Given the description of an element on the screen output the (x, y) to click on. 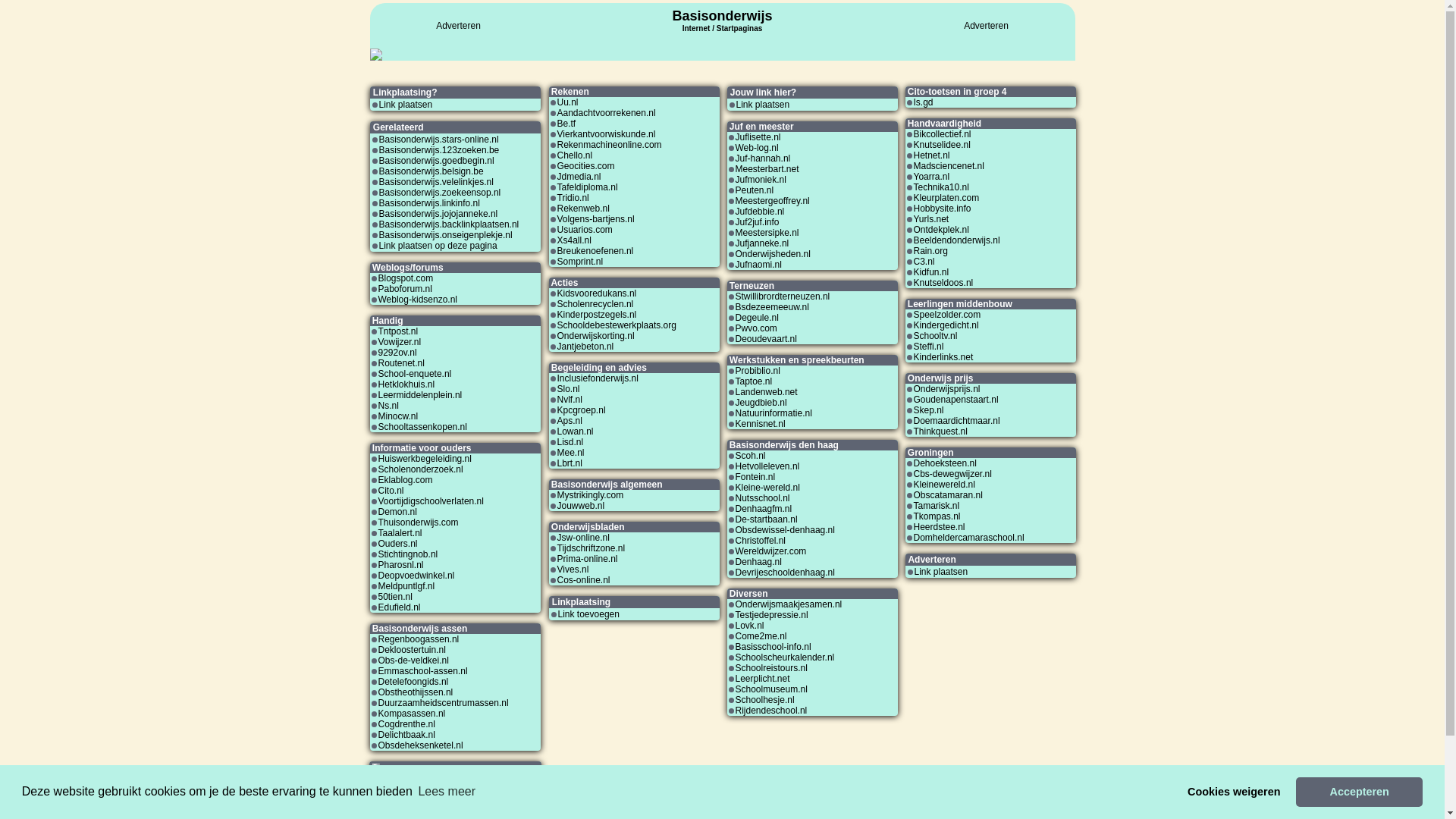
Basisonderwijs.belsign.be Element type: text (431, 171)
Pwvo.com Element type: text (756, 328)
Jufmoniek.nl Element type: text (760, 179)
Speelzolder.com Element type: text (946, 314)
Cos-online.nl Element type: text (582, 579)
Knutseldoos.nl Element type: text (942, 282)
Onderwijsprijs.nl Element type: text (946, 388)
Lowan.nl Element type: text (574, 431)
Hetvolleleven.nl Element type: text (767, 466)
Jouwweb.nl Element type: text (580, 505)
Rain.org Element type: text (930, 250)
Paboforum.nl Element type: text (404, 288)
Landenweb.net Element type: text (766, 391)
Juf2juf.info Element type: text (757, 221)
Kpcgroep.nl Element type: text (580, 409)
Minocw.nl Element type: text (397, 416)
Link plaatsen Element type: text (406, 104)
Jufjanneke.nl Element type: text (762, 243)
Yurls.net Element type: text (930, 218)
Stichtingnob.nl Element type: text (407, 554)
Basisonderwijs.backlinkplaatsen.nl Element type: text (449, 224)
Jeugdbieb.nl Element type: text (761, 402)
Kidsvooredukans.nl Element type: text (596, 293)
Hobbysite.info Element type: text (941, 208)
Basisonderwijs.goedbegin.nl Element type: text (436, 160)
Onderwijsmaakjesamen.nl Element type: text (788, 604)
Aandachtvoorrekenen.nl Element type: text (605, 112)
C3.nl Element type: text (923, 261)
Onderwijsheden.nl Element type: text (772, 253)
Technika10.nl Element type: text (940, 187)
Jsw-online.nl Element type: text (582, 537)
Tijdschriftzone.nl Element type: text (590, 547)
Rekenweb.nl Element type: text (582, 208)
Emmaschool-assen.nl Element type: text (422, 670)
Kleinewereld.nl Element type: text (943, 484)
De-startbaan.nl Element type: text (766, 519)
Adverteren Element type: text (458, 25)
Basisonderwijs.velelinkjes.nl Element type: text (436, 181)
Lovk.nl Element type: text (749, 625)
Probiblio.nl Element type: text (757, 370)
Internet Element type: text (696, 26)
Schoolmuseum.nl Element type: text (771, 689)
Obs-de-veldkei.nl Element type: text (412, 660)
Ontdekplek.nl Element type: text (940, 229)
Deoudevaart.nl Element type: text (766, 338)
Basisonderwijs.linkinfo.nl Element type: text (429, 202)
50tien.nl Element type: text (394, 596)
Scholenonderzoek.nl Element type: text (419, 469)
Madsciencenet.nl Element type: text (948, 165)
Kennisnet.nl Element type: text (760, 423)
Nutsschool.nl Element type: text (762, 497)
Rijdendeschool.nl Element type: text (771, 710)
Geocities.com Element type: text (585, 165)
Voortijdigschoolverlaten.nl Element type: text (430, 500)
Regenboogassen.nl Element type: text (417, 638)
Juf-hannah.nl Element type: text (762, 158)
Aps.nl Element type: text (568, 420)
Basisonderwijs Element type: text (721, 15)
Knutselidee.nl Element type: text (941, 144)
Tkompas.nl Element type: text (936, 516)
Jdmedia.nl Element type: text (578, 176)
Ouders.nl Element type: text (397, 543)
Somprint.nl Element type: text (579, 261)
Cogdrenthe.nl Element type: text (405, 723)
Deopvoedwinkel.nl Element type: text (415, 575)
Basisonderwijs.jojojanneke.nl Element type: text (438, 213)
Doemaardichtmaar.nl Element type: text (956, 420)
Chello.nl Element type: text (574, 155)
Detelefoongids.nl Element type: text (412, 681)
Onderwijskorting.nl Element type: text (594, 335)
Delichtbaak.nl Element type: text (405, 734)
Thuisonderwijs.com Element type: text (417, 522)
Degeule.nl Element type: text (756, 317)
Scholenrecyclen.nl Element type: text (594, 303)
Kindergedicht.nl Element type: text (945, 325)
Leermiddelenplein.nl Element type: text (419, 394)
Pharosnl.nl Element type: text (400, 564)
Ns.nl Element type: text (387, 405)
Breukenoefenen.nl Element type: text (594, 250)
Schoolreistours.nl Element type: text (771, 667)
Goudenapenstaart.nl Element type: text (955, 399)
Accepteren Element type: text (1358, 791)
Jouw link hier? Element type: text (407, 779)
Fontein.nl Element type: text (755, 476)
Basisonderwijs.123zoeken.be Element type: text (439, 149)
Tamarisk.nl Element type: text (936, 505)
Rekenmachineonline.com Element type: text (608, 144)
Wereldwijzer.com Element type: text (770, 551)
Routenet.nl Element type: text (400, 362)
Meesterbart.net Element type: text (767, 168)
Uu.nl Element type: text (566, 102)
Blogspot.com Element type: text (405, 278)
Schooltv.nl Element type: text (935, 335)
Denhaag.nl Element type: text (758, 561)
Link plaatsen op deze pagina Element type: text (438, 245)
Juflisette.nl Element type: text (758, 136)
Basisonderwijs.stars-online.nl Element type: text (438, 139)
Stwillibrordterneuzen.nl Element type: text (782, 296)
Link plaatsen Element type: text (941, 571)
Web-log.nl Element type: text (756, 147)
Christoffel.nl Element type: text (760, 540)
Natuurinformatie.nl Element type: text (773, 412)
Schooltassenkopen.nl Element type: text (421, 426)
Vierkantvoorwiskunde.nl Element type: text (605, 133)
Eklablog.com Element type: text (404, 479)
Tntpost.nl Element type: text (397, 331)
Obstheothijssen.nl Element type: text (414, 692)
Skep.nl Element type: text (928, 409)
Thinkquest.nl Element type: text (939, 431)
Schoolhesje.nl Element type: text (764, 699)
Link toevoegen Element type: text (588, 613)
Meestersipke.nl Element type: text (767, 232)
Be.tf Element type: text (565, 123)
Basisonderwijs.onseigenplekje.nl Element type: text (445, 234)
Taptoe.nl Element type: text (753, 381)
Volgens-bartjens.nl Element type: text (594, 218)
Inclusiefonderwijs.nl Element type: text (596, 378)
Bsdezeemeeuw.nl Element type: text (772, 306)
Huiswerkbegeleiding.nl Element type: text (423, 458)
Is.gd Element type: text (922, 102)
Prima-online.nl Element type: text (586, 558)
Mee.nl Element type: text (569, 452)
Taalalert.nl Element type: text (399, 532)
Kompasassen.nl Element type: text (411, 713)
Usuarios.com Element type: text (583, 229)
Edufield.nl Element type: text (398, 607)
Adverteren Element type: text (985, 25)
Kidfun.nl Element type: text (930, 271)
Mystrikingly.com Element type: text (589, 494)
Come2me.nl Element type: text (761, 635)
Startpaginas Element type: text (739, 28)
Meldpuntlgf.nl Element type: text (405, 585)
Jufdebbie.nl Element type: text (759, 211)
Basisschool-info.nl Element type: text (773, 646)
Lees meer Element type: text (446, 791)
Cbs-dewegwijzer.nl Element type: text (952, 473)
Domheldercamaraschool.nl Element type: text (968, 537)
Kleurplaten.com Element type: text (946, 197)
Duurzaamheidscentrumassen.nl Element type: text (442, 702)
Heerdstee.nl Element type: text (938, 526)
Peuten.nl Element type: text (754, 190)
Cookies weigeren Element type: text (1233, 791)
Tridio.nl Element type: text (572, 197)
Slo.nl Element type: text (567, 388)
Schoolscheurkalender.nl Element type: text (784, 657)
Obsdewissel-denhaag.nl Element type: text (784, 529)
Bikcollectief.nl Element type: text (941, 133)
Obscatamaran.nl Element type: text (947, 494)
Vives.nl Element type: text (572, 569)
Hetnet.nl Element type: text (931, 155)
Cito.nl Element type: text (390, 490)
Hetklokhuis.nl Element type: text (405, 384)
Nvlf.nl Element type: text (568, 399)
Demon.nl Element type: text (396, 511)
Weblog-kidsenzo.nl Element type: text (417, 299)
Basisonderwijs.zoekeensop.nl Element type: text (440, 192)
Scoh.nl Element type: text (750, 455)
Denhaagfm.nl Element type: text (763, 508)
Jantjebeton.nl Element type: text (584, 346)
Devrijeschooldenhaag.nl Element type: text (784, 572)
Dehoeksteen.nl Element type: text (944, 463)
Testjedepressie.nl Element type: text (771, 614)
Meestergeoffrey.nl Element type: text (772, 200)
Steffi.nl Element type: text (928, 346)
Dekloostertuin.nl Element type: text (411, 649)
Obsdeheksenketel.nl Element type: text (419, 745)
Vowijzer.nl Element type: text (398, 341)
Beeldendonderwijs.nl Element type: text (956, 240)
Yoarra.nl Element type: text (931, 176)
Xs4all.nl Element type: text (573, 240)
School-enquete.nl Element type: text (414, 373)
Leerplicht.net Element type: text (762, 678)
Kinderlinks.net Element type: text (942, 356)
Kinderpostzegels.nl Element type: text (596, 314)
Kleine-wereld.nl Element type: text (767, 487)
Lbrt.nl Element type: text (568, 463)
Link plaatsen Element type: text (762, 104)
Jufnaomi.nl Element type: text (758, 264)
Schooldebestewerkplaats.org Element type: text (615, 325)
Lisd.nl Element type: text (569, 441)
9292ov.nl Element type: text (396, 352)
Tafeldiploma.nl Element type: text (586, 187)
